Given the description of an element on the screen output the (x, y) to click on. 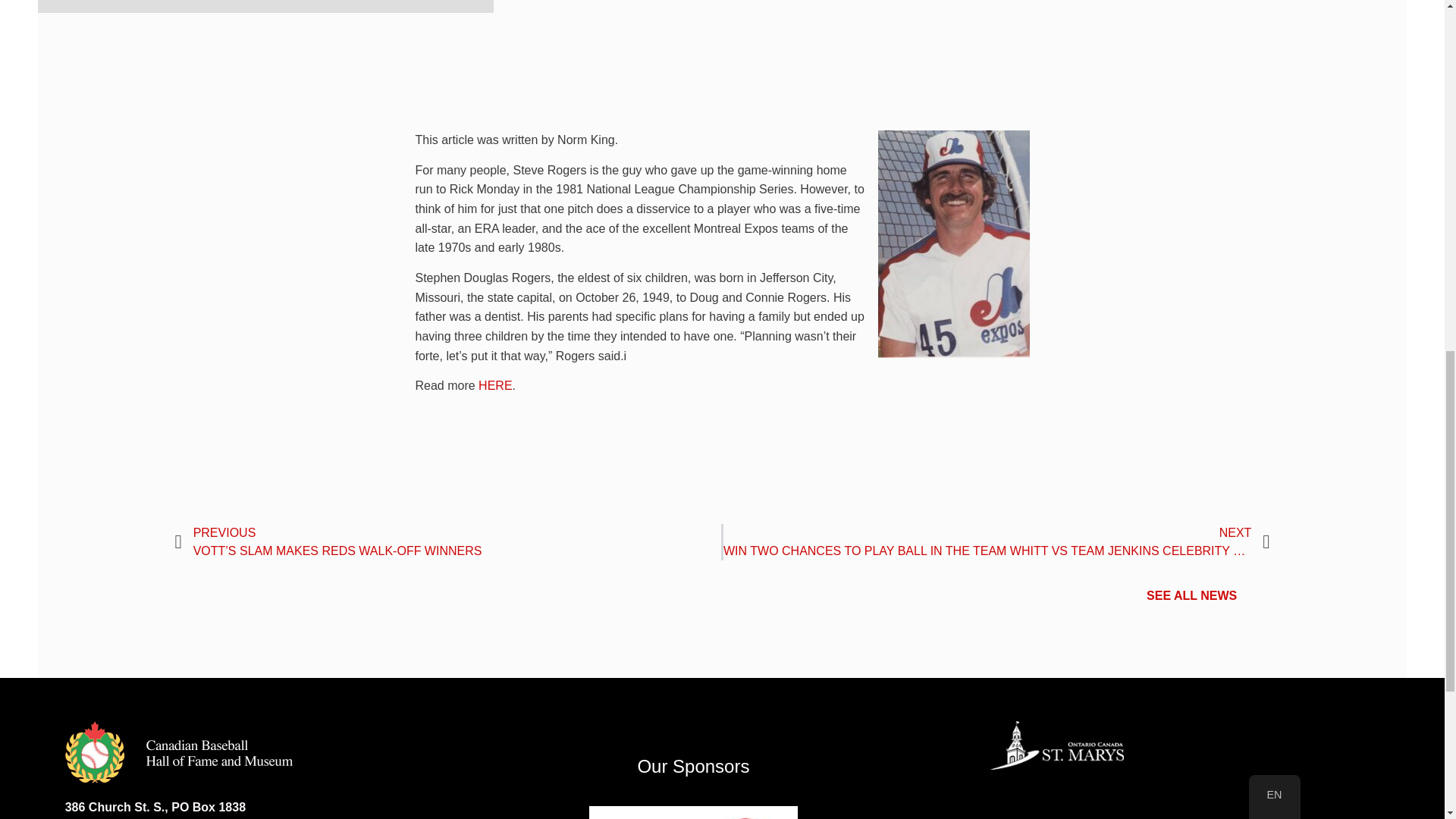
386 Church St. South, St Marys, On (1174, 801)
St Marys White (1055, 745)
